Given the description of an element on the screen output the (x, y) to click on. 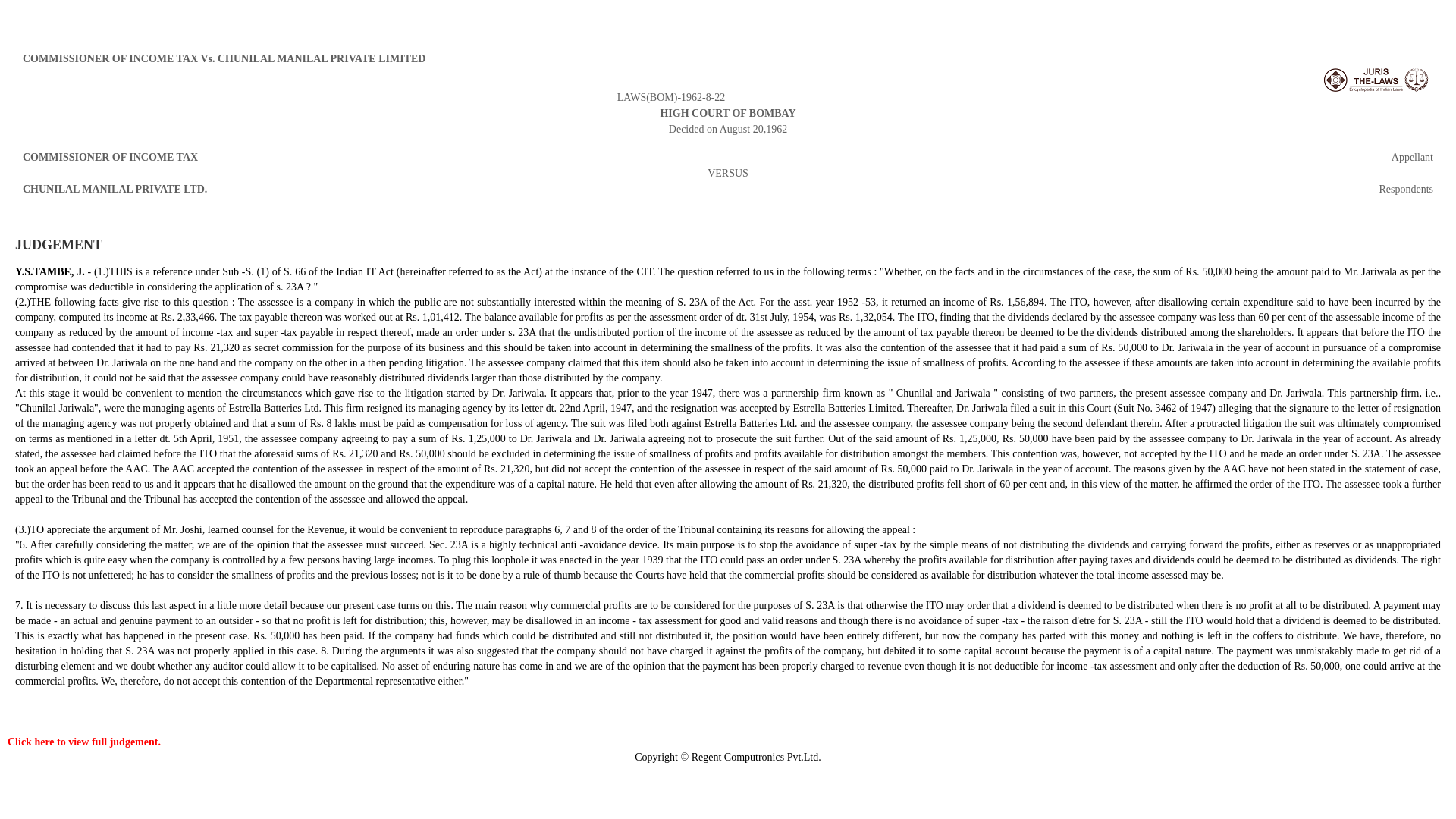
Click here to view full judgement. (83, 741)
